Given the description of an element on the screen output the (x, y) to click on. 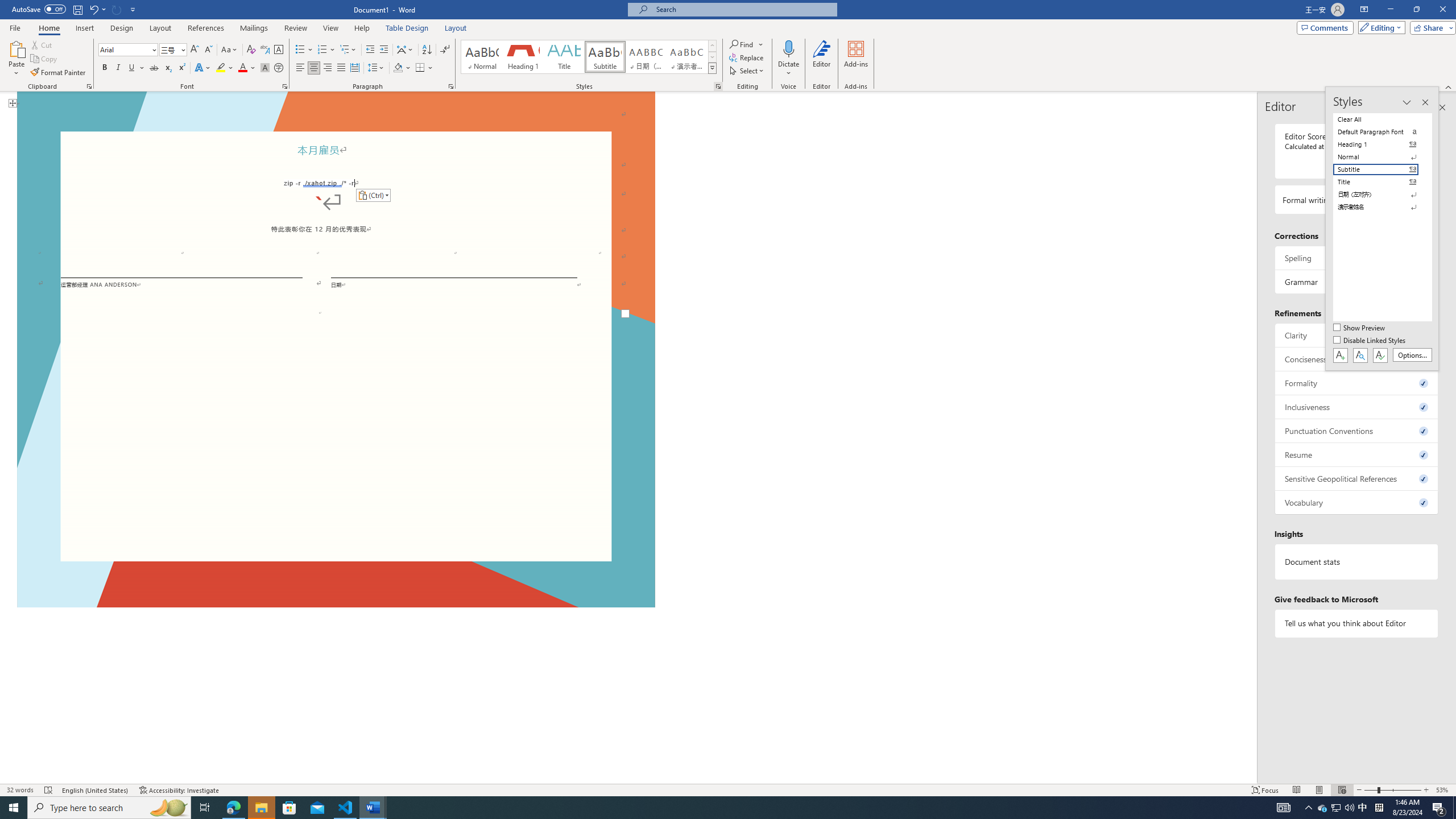
Editing (1379, 27)
Normal (1382, 156)
Class: NetUIButton (1380, 355)
Decorative (336, 346)
Font Color Red (241, 67)
